Given the description of an element on the screen output the (x, y) to click on. 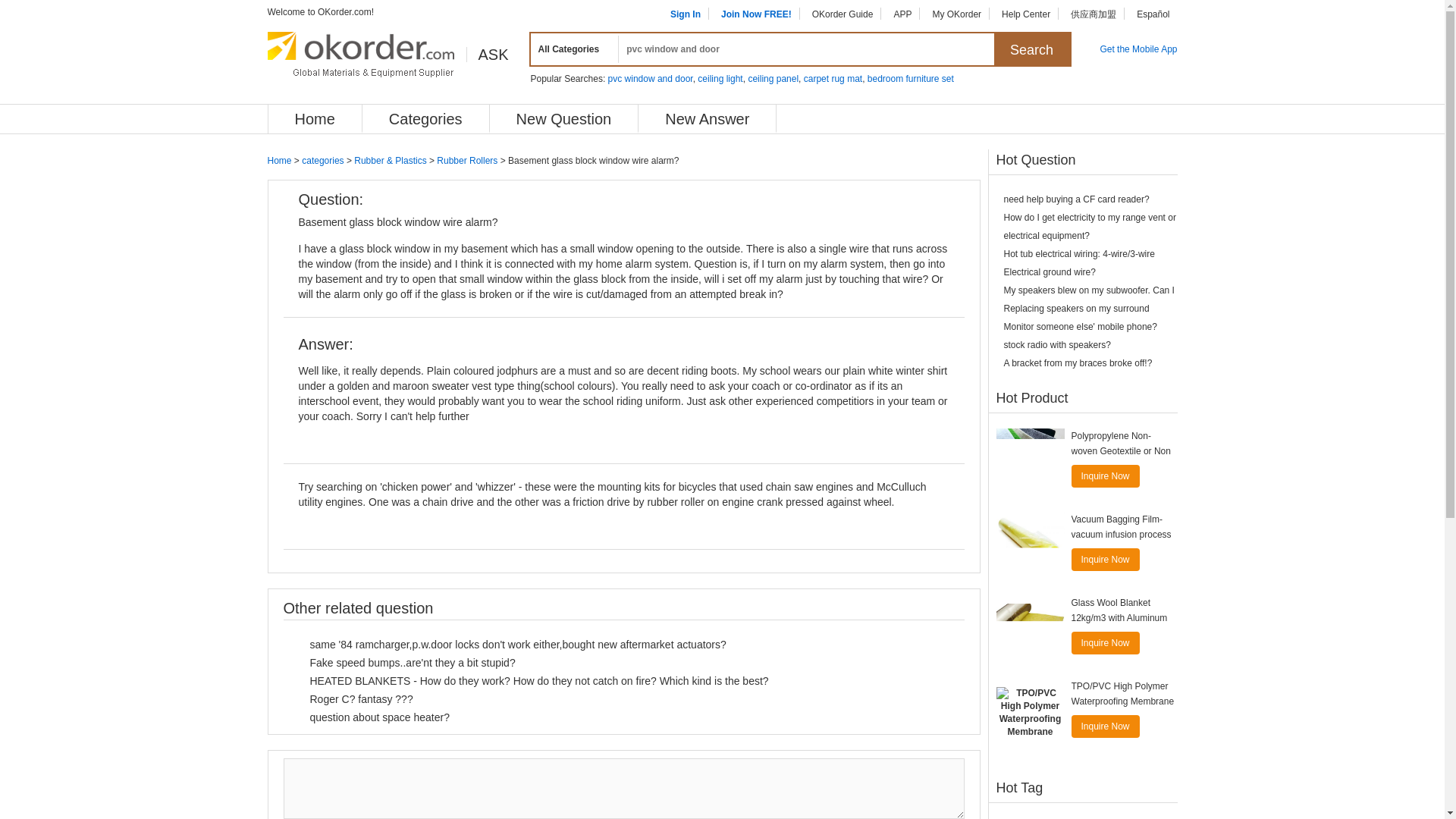
My OKorder (956, 14)
APP (902, 14)
Sign In (684, 14)
OKorder Guide (842, 14)
All Categories (571, 49)
Join Now FREE! (756, 14)
Okorder Vacuum Bagging Film-vacuum infusion process (1029, 545)
Help Center (1025, 14)
Get the Mobile App (1137, 49)
